Given the description of an element on the screen output the (x, y) to click on. 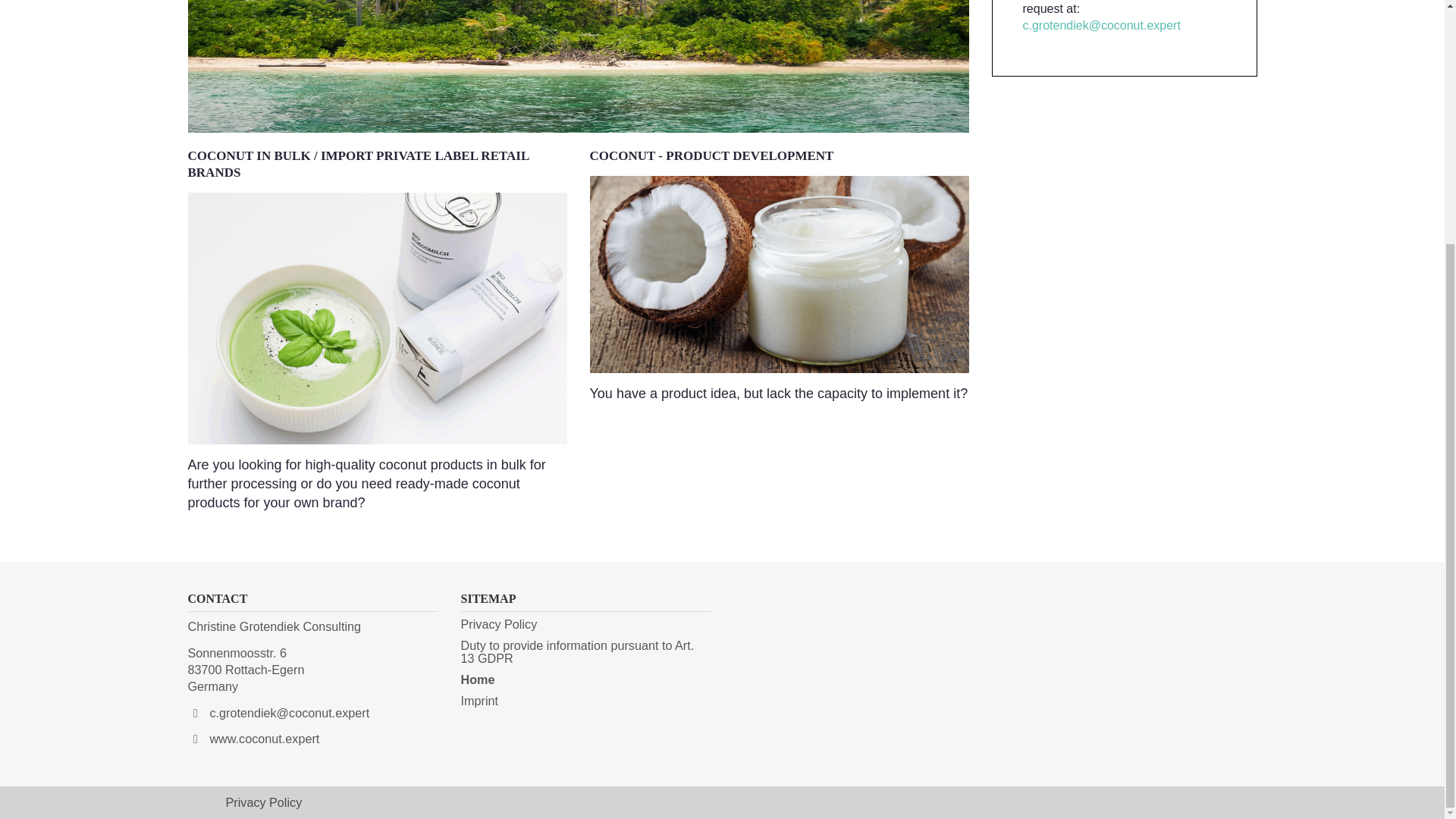
Imprint (479, 700)
Privacy Policy (499, 623)
Duty to provide information pursuant to Art. 13 GDPR (577, 651)
www.coconut.expert (263, 738)
Privacy Policy (263, 802)
Home (478, 679)
